Given the description of an element on the screen output the (x, y) to click on. 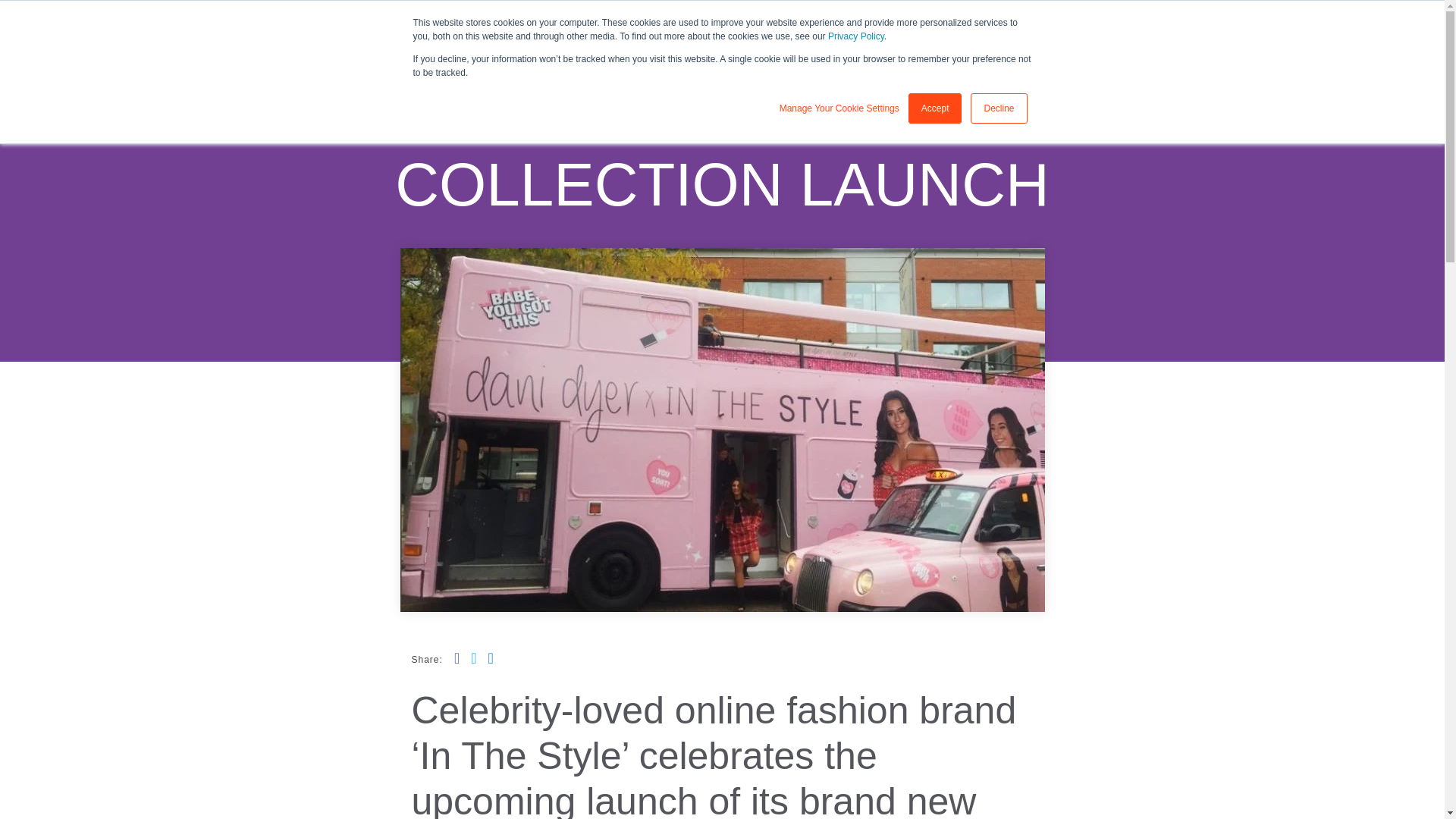
Contact us (1390, 32)
Manage Your Cookie Settings (838, 108)
Privacy Policy (855, 36)
Learning Centre (1169, 36)
Decline (998, 108)
Contact us (1390, 32)
Accept (935, 108)
Our Vehicle Options (1053, 36)
What We Do (946, 36)
